Given the description of an element on the screen output the (x, y) to click on. 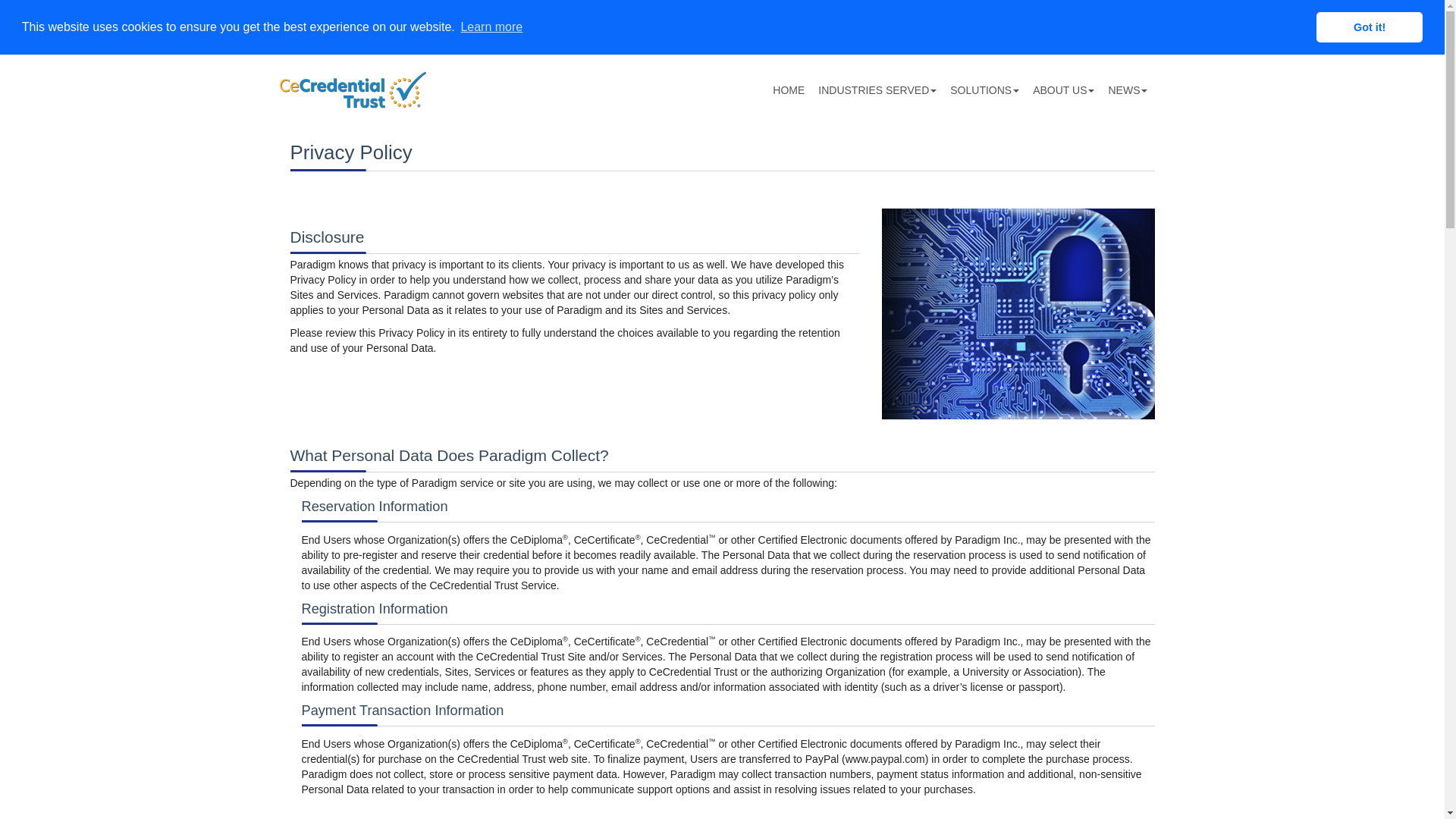
INDUSTRIES SERVED (876, 90)
SOLUTIONS (984, 90)
Learn more (491, 26)
ABOUT US (1063, 90)
Got it! (1369, 27)
